Given the description of an element on the screen output the (x, y) to click on. 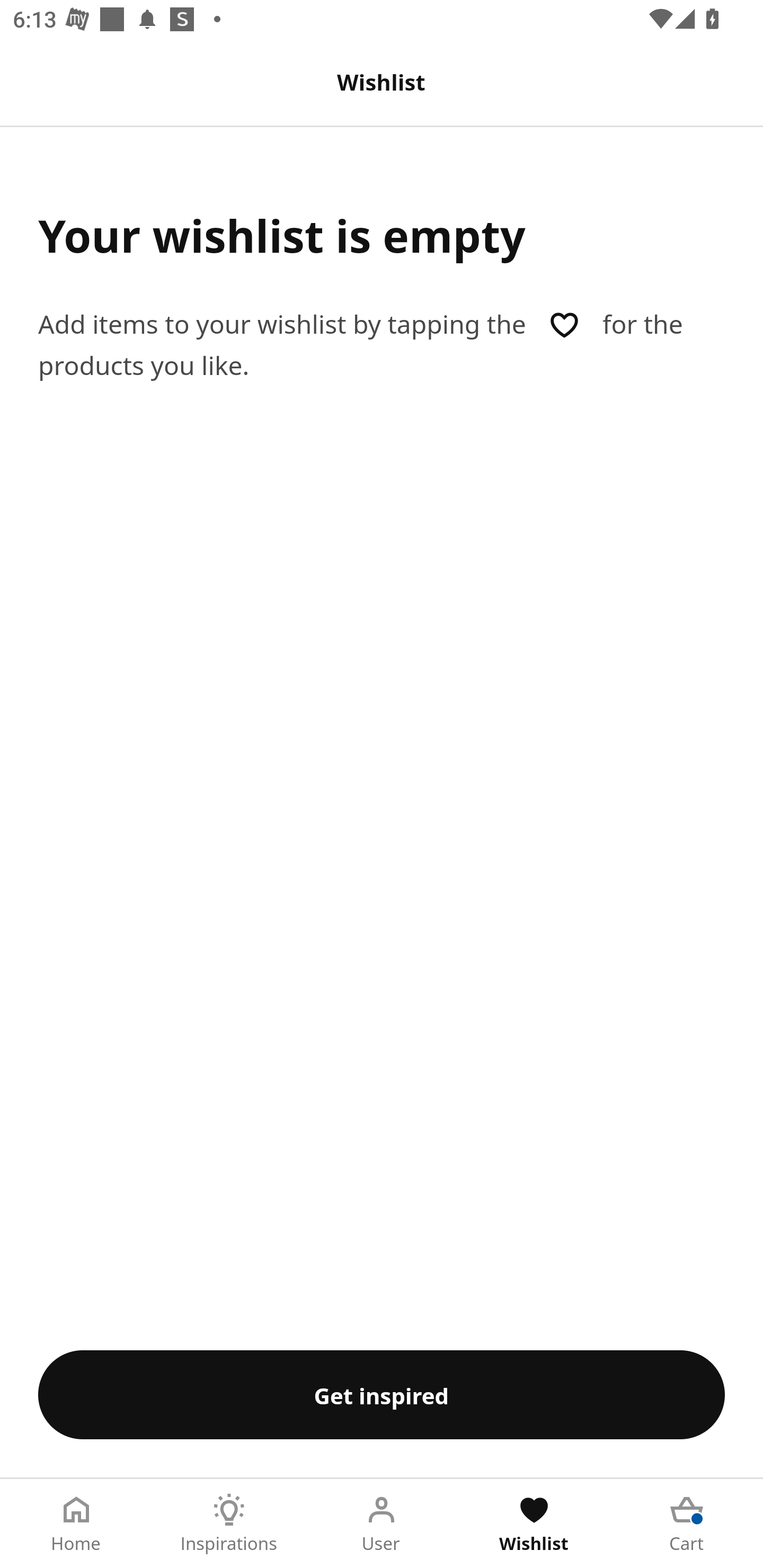
Get inspired (381, 1394)
Home
Tab 1 of 5 (76, 1522)
Inspirations
Tab 2 of 5 (228, 1522)
User
Tab 3 of 5 (381, 1522)
Wishlist
Tab 4 of 5 (533, 1522)
Cart
Tab 5 of 5 (686, 1522)
